Given the description of an element on the screen output the (x, y) to click on. 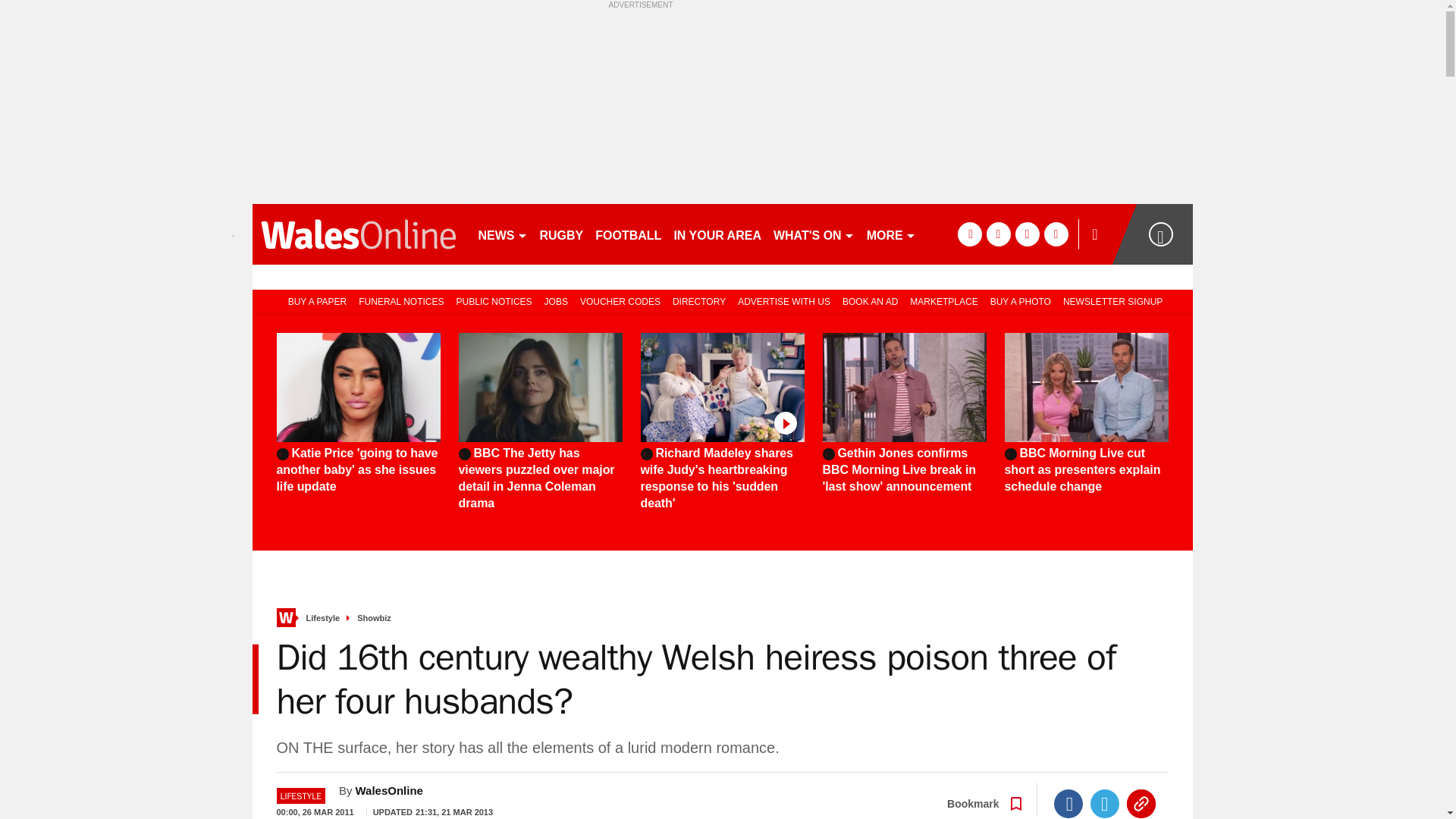
walesonline (357, 233)
3rd party ad content (1325, 409)
RUGBY (561, 233)
Twitter (1104, 803)
3rd party ad content (721, 103)
WHAT'S ON (813, 233)
pinterest (1026, 233)
facebook (968, 233)
NEWS (501, 233)
FOOTBALL (627, 233)
twitter (997, 233)
IN YOUR AREA (716, 233)
MORE (890, 233)
